Given the description of an element on the screen output the (x, y) to click on. 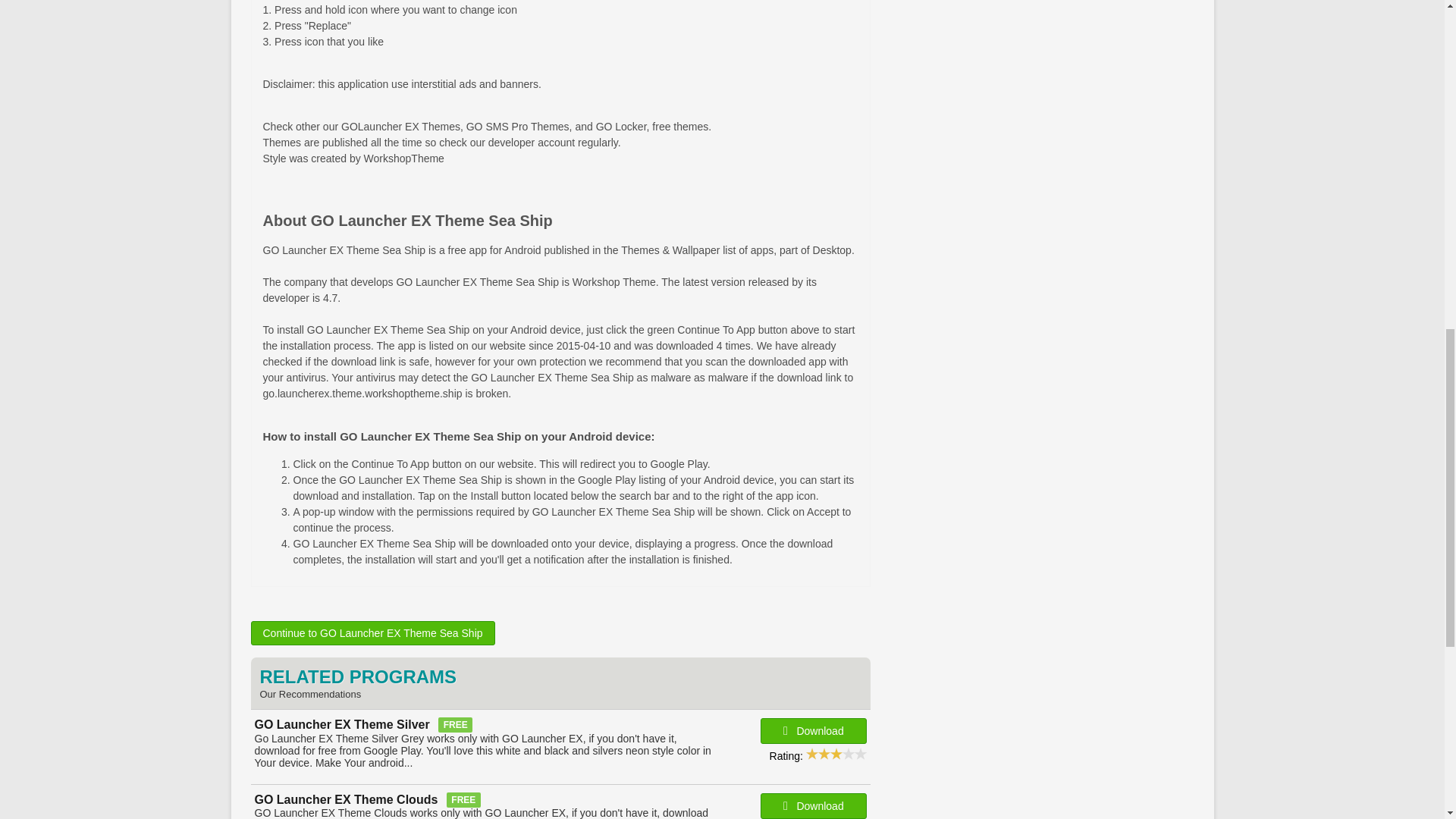
Continue to GO Launcher EX Theme Sea Ship (372, 632)
  Download (813, 806)
  Download (813, 730)
